Given the description of an element on the screen output the (x, y) to click on. 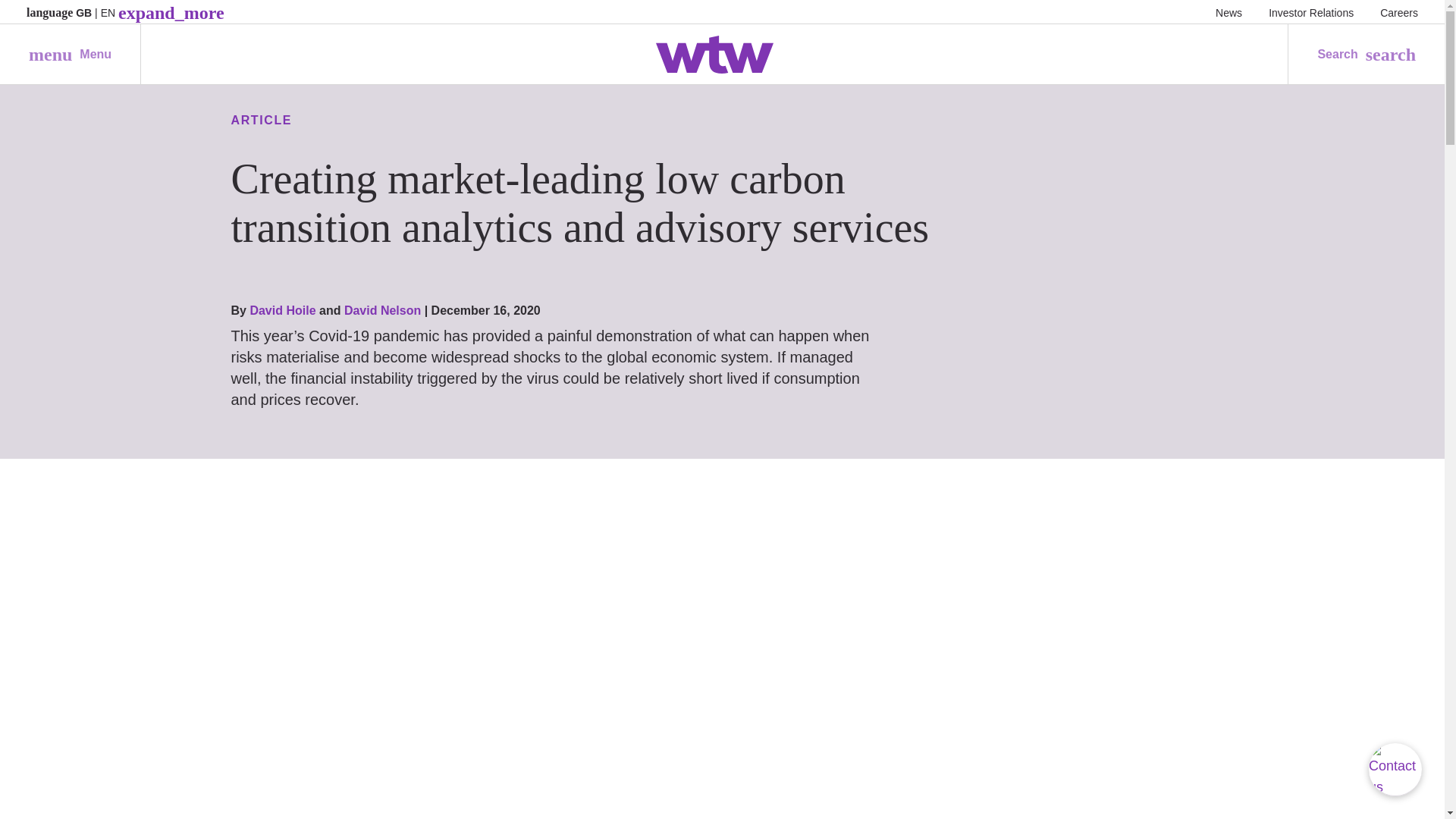
Careers (1399, 12)
News (1228, 12)
Investor Relations (69, 54)
